Given the description of an element on the screen output the (x, y) to click on. 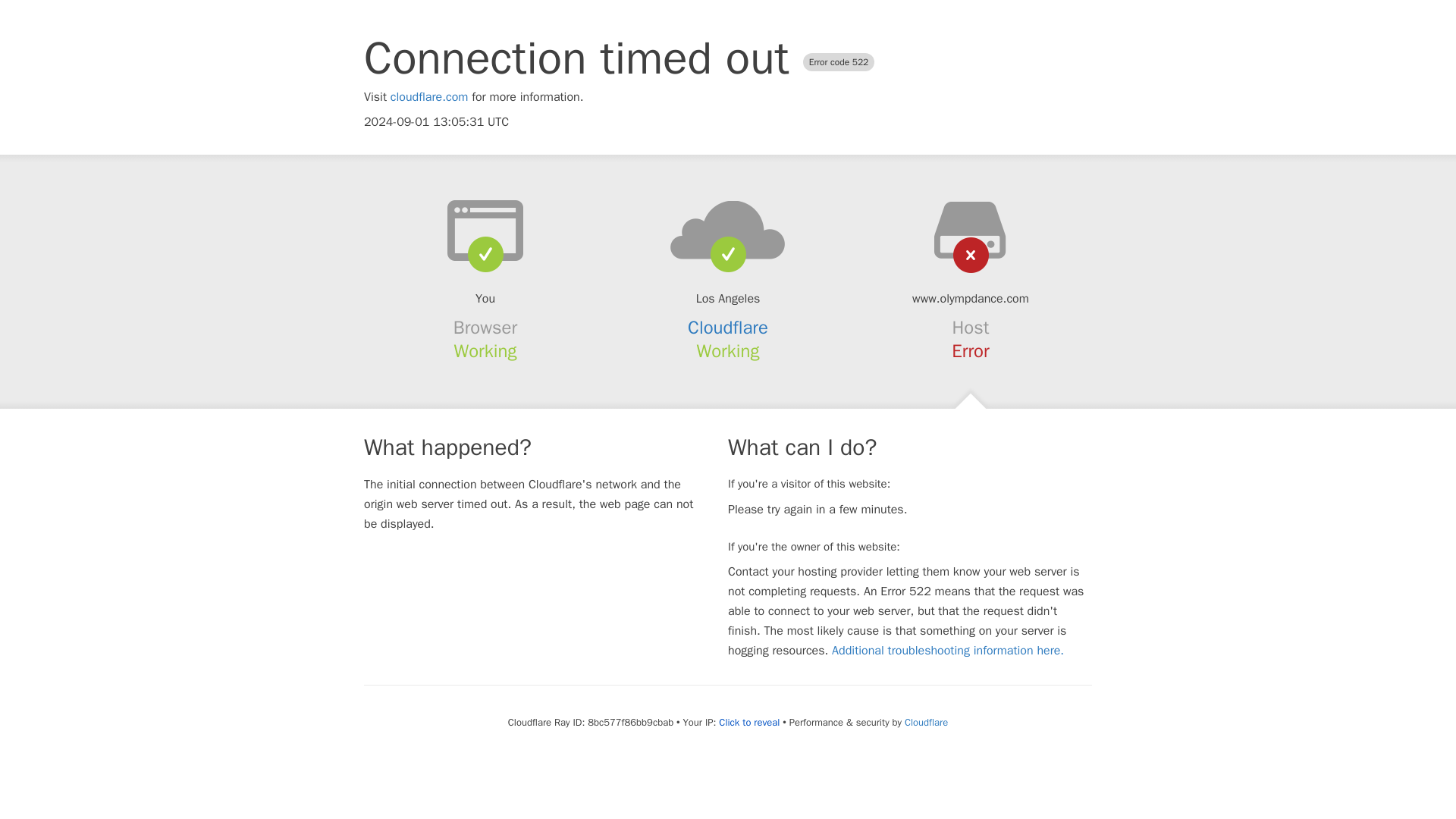
Cloudflare (925, 721)
Click to reveal (748, 722)
Cloudflare (727, 327)
cloudflare.com (429, 96)
Additional troubleshooting information here. (947, 650)
